Given the description of an element on the screen output the (x, y) to click on. 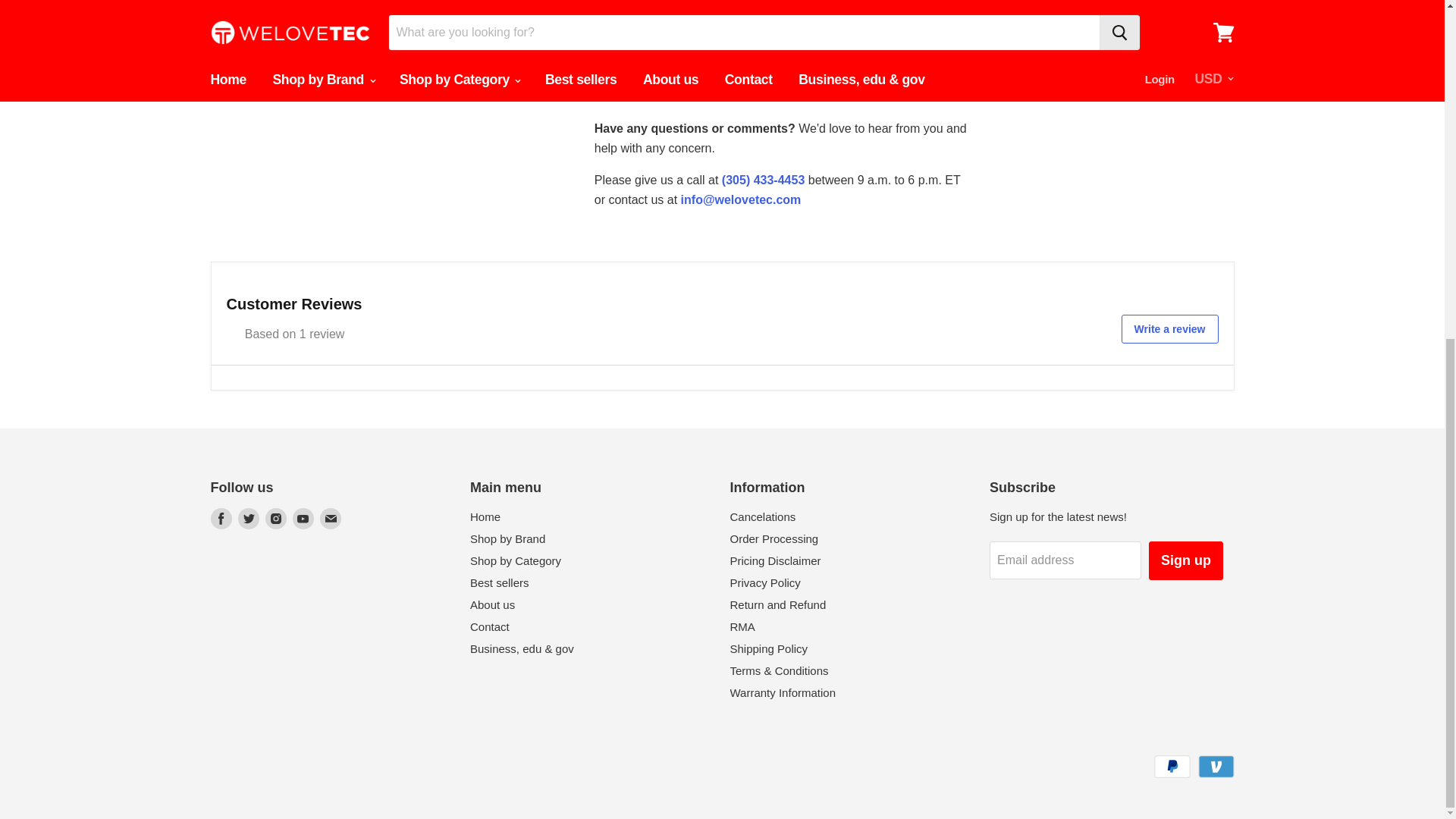
Venmo (1216, 766)
Youtube (303, 518)
PayPal (1172, 766)
Instagram (275, 518)
Facebook (221, 518)
Twitter (248, 518)
E-mail (330, 518)
